Given the description of an element on the screen output the (x, y) to click on. 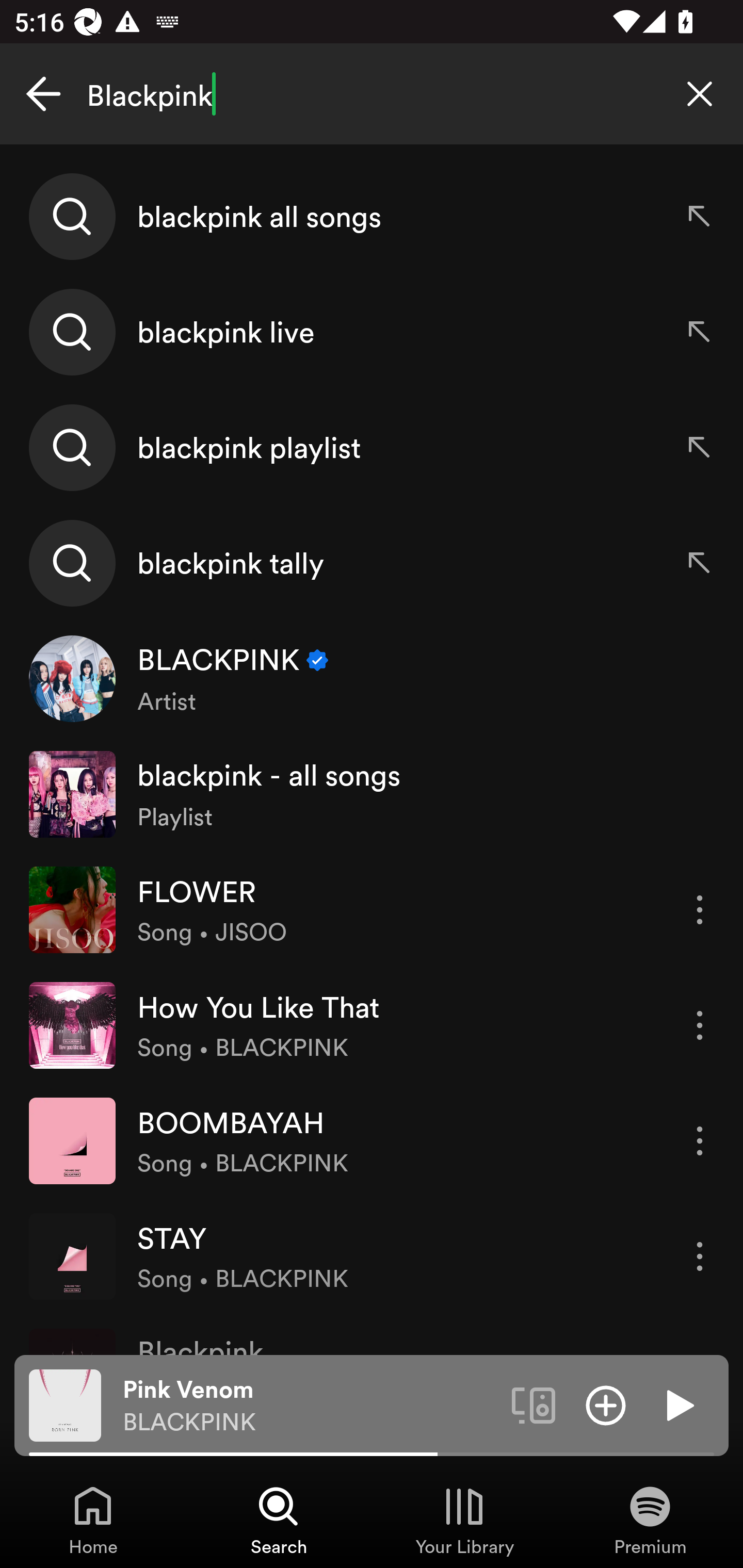
Blackpink (371, 93)
Cancel (43, 93)
Clear search query (699, 93)
blackpink all songs (371, 216)
blackpink live (371, 332)
blackpink playlist (371, 447)
blackpink tally (371, 562)
BLACKPINK Verified Artist (371, 678)
blackpink - all songs Playlist (371, 793)
FLOWER Song • JISOO More options for song FLOWER (371, 909)
More options for song FLOWER (699, 910)
More options for song How You Like That (699, 1025)
More options for song BOOMBAYAH (699, 1140)
STAY Song • BLACKPINK More options for song STAY (371, 1255)
More options for song STAY (699, 1256)
Pink Venom BLACKPINK (309, 1405)
The cover art of the currently playing track (64, 1404)
Connect to a device. Opens the devices menu (533, 1404)
Add item (605, 1404)
Play (677, 1404)
Home, Tab 1 of 4 Home Home (92, 1519)
Search, Tab 2 of 4 Search Search (278, 1519)
Your Library, Tab 3 of 4 Your Library Your Library (464, 1519)
Premium, Tab 4 of 4 Premium Premium (650, 1519)
